Given the description of an element on the screen output the (x, y) to click on. 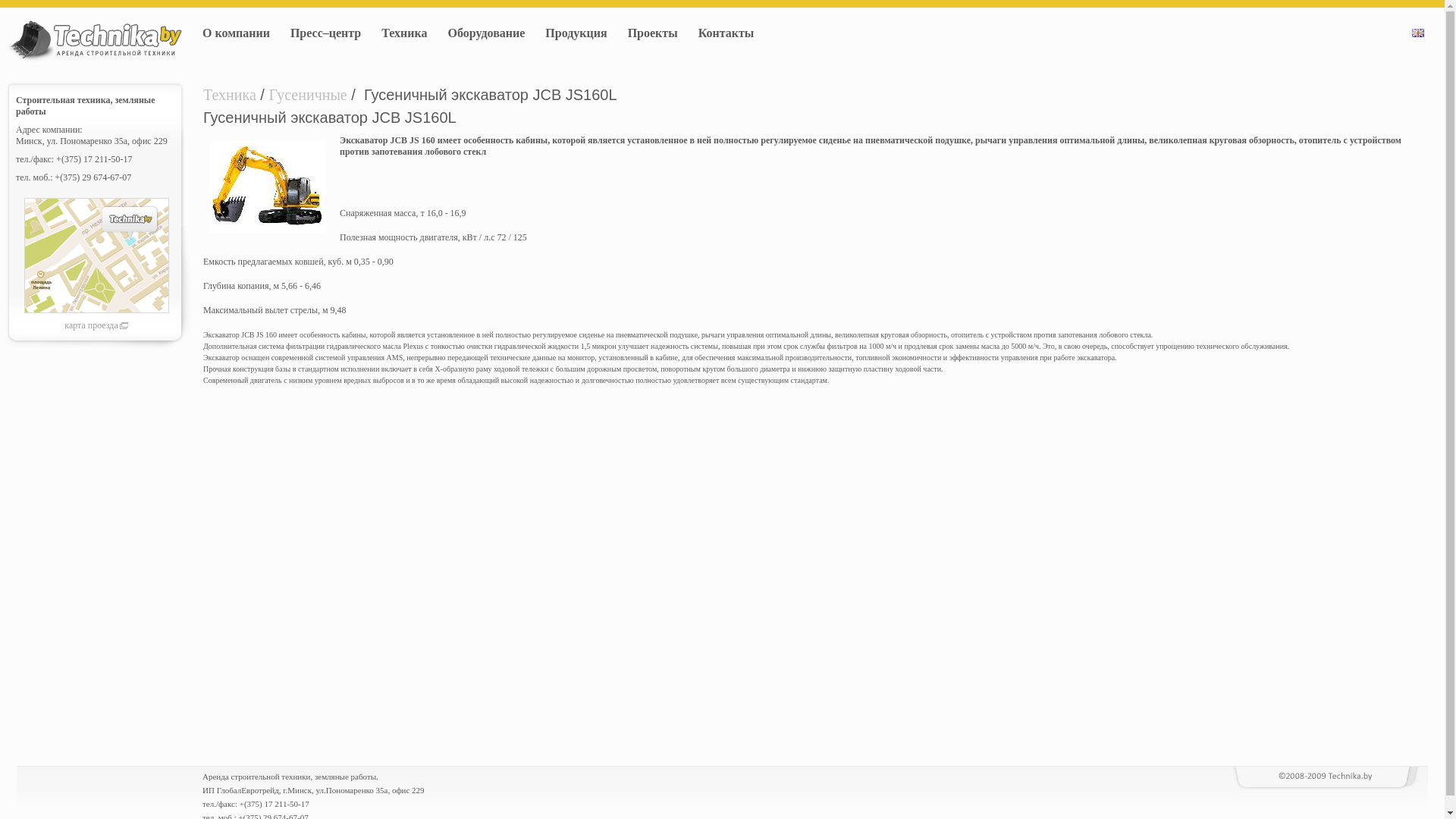
English version Element type: hover (1418, 32)
technika.by Element type: hover (94, 41)
